Given the description of an element on the screen output the (x, y) to click on. 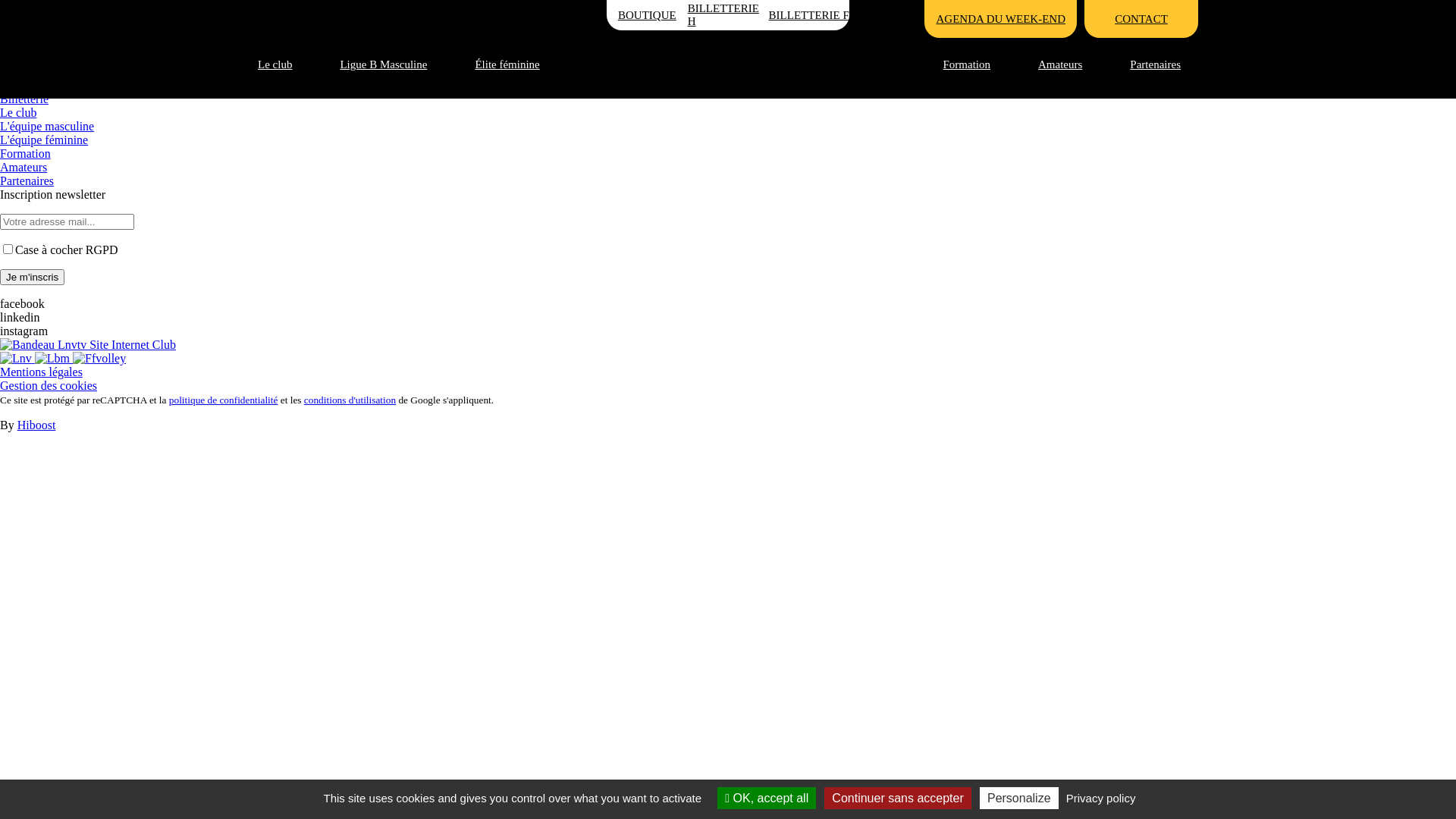
Accueil Element type: text (727, 64)
Partenaires Element type: text (26, 180)
conditions d'utilisation Element type: text (349, 399)
Le club Element type: text (283, 64)
Formation Element type: text (975, 64)
Boutique Element type: text (22, 84)
Formation Element type: text (25, 153)
Accueil Element type: text (18, 6)
Amateurs Element type: text (1068, 64)
Privacy policy Element type: text (1100, 797)
Amateurs Element type: text (23, 166)
OK, accept all Element type: text (766, 798)
Continuer sans accepter Element type: text (897, 798)
BILLETTERIE H Element type: text (727, 15)
Je m'inscris Element type: text (32, 277)
Partenaires Element type: text (1163, 64)
Ligue B Masculine Element type: text (391, 64)
Personalize Element type: text (1018, 798)
BILLETTERIE F Element type: text (808, 15)
Le club Element type: text (18, 112)
Retourner sur la page d'accueil Element type: text (74, 71)
Billetterie Element type: text (24, 98)
BOUTIQUE Element type: text (646, 15)
Gestion des cookies Element type: text (48, 385)
Hiboost Element type: text (36, 424)
